Given the description of an element on the screen output the (x, y) to click on. 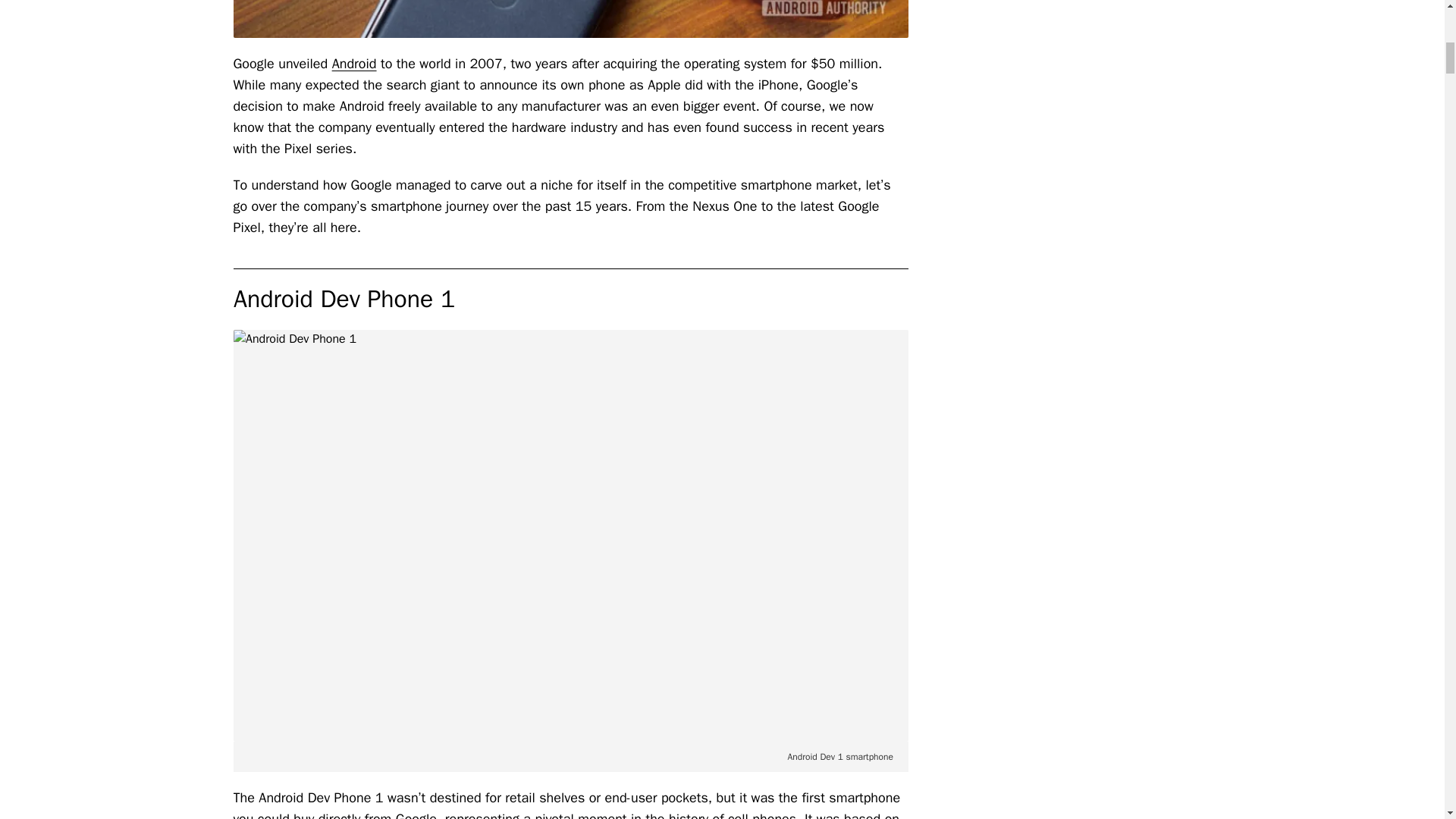
Google Pixel 6 and 5 series camera housings top down (570, 18)
history of cell phones (732, 814)
Android (354, 63)
